Given the description of an element on the screen output the (x, y) to click on. 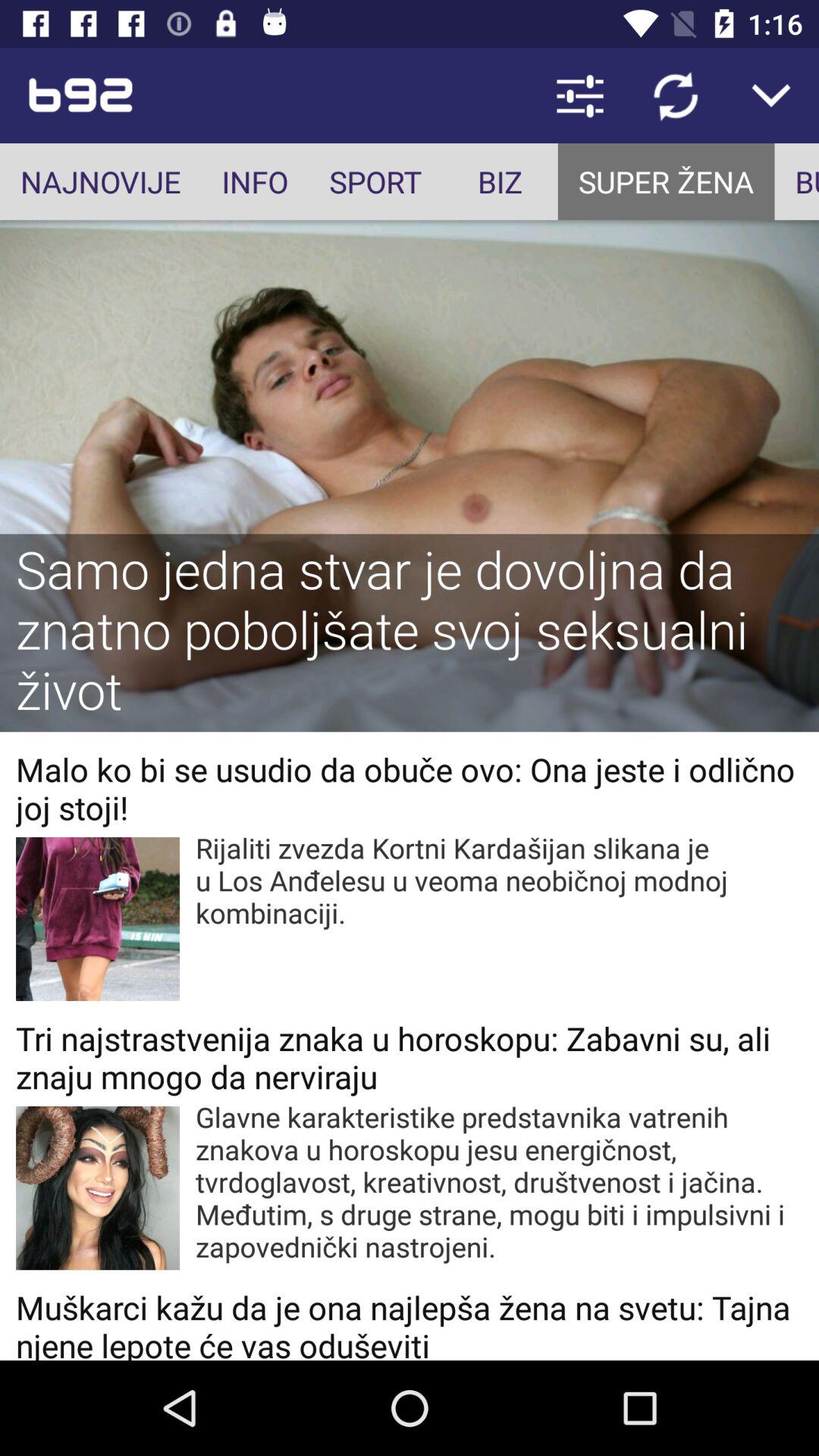
select icon to the left of sport app (254, 181)
